Given the description of an element on the screen output the (x, y) to click on. 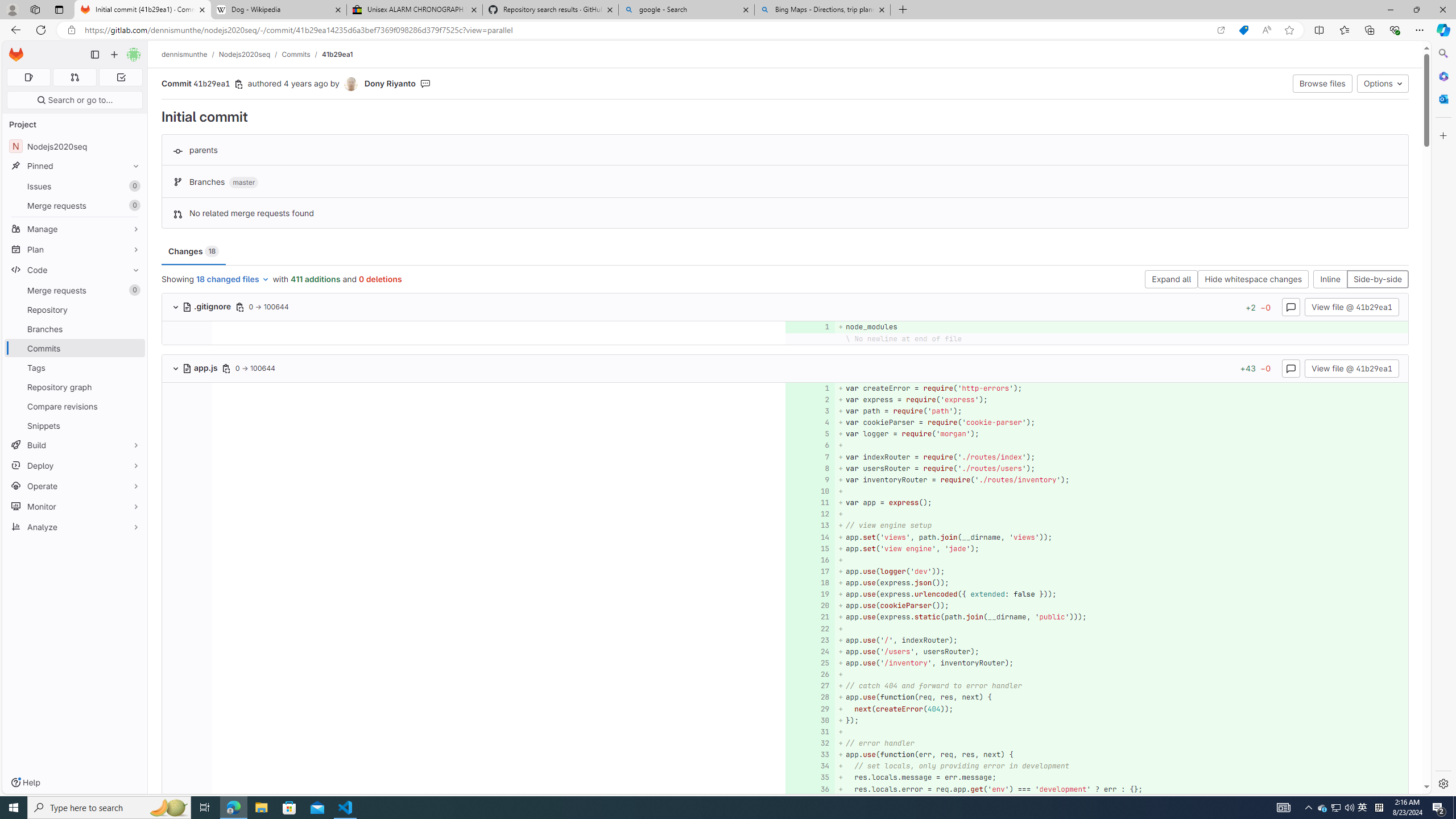
12 (808, 514)
23 (808, 639)
35 (808, 777)
+ app.use('/inventory', inventoryRouter);  (1120, 663)
Unpin Merge requests (132, 290)
+ app.set('view engine', 'jade');  (1120, 548)
7 (808, 456)
Add a comment to this line 5 (809, 434)
Plan (74, 248)
Deploy (74, 465)
Pin Repository (132, 309)
24 (808, 651)
Add a comment to this line 23 (809, 639)
33 (808, 754)
